Given the description of an element on the screen output the (x, y) to click on. 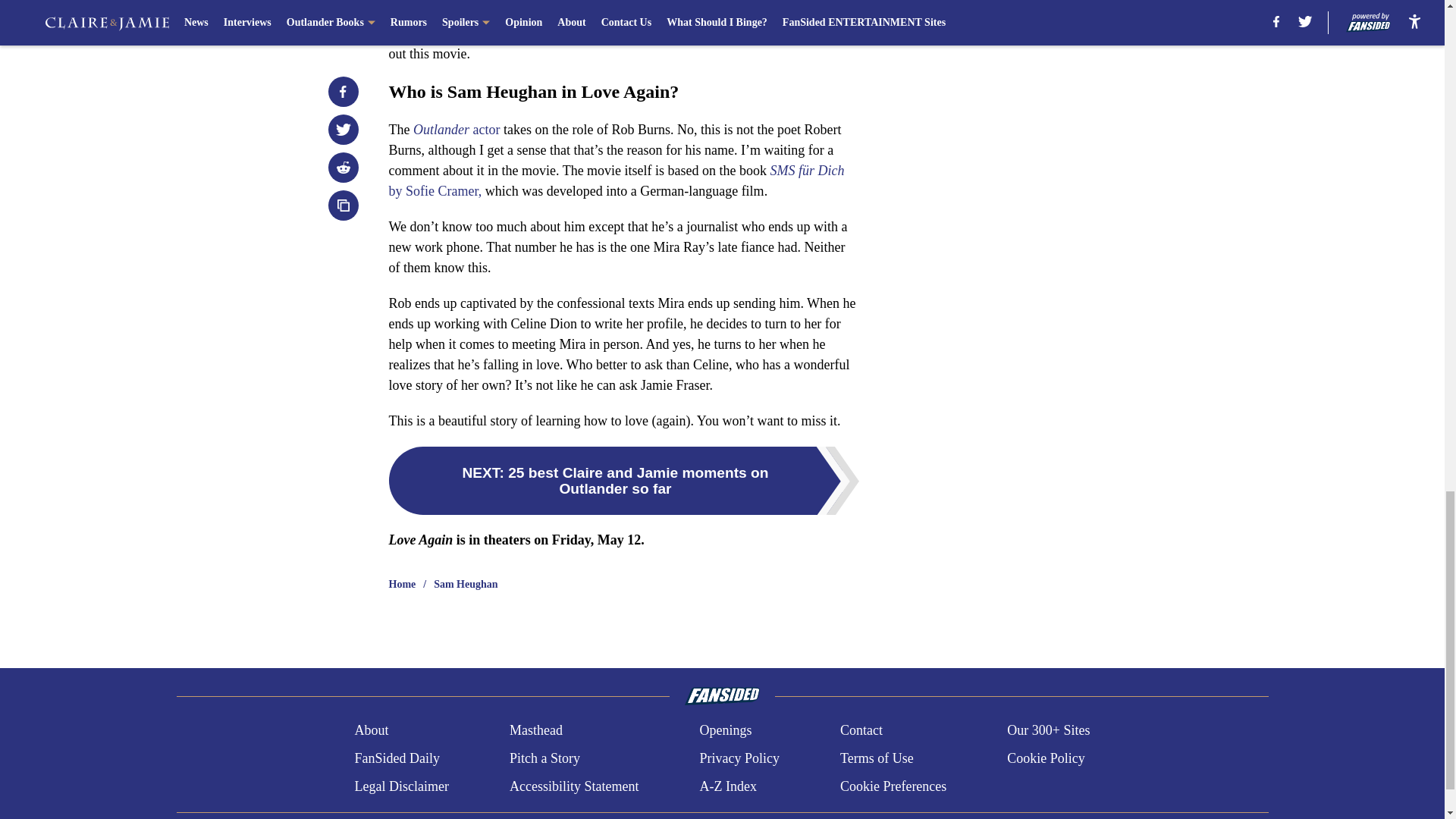
Sam Heughan (465, 584)
Terms of Use (877, 758)
About (370, 730)
Outlander actor (456, 129)
Privacy Policy (738, 758)
NEXT: 25 best Claire and Jamie moments on Outlander so far (623, 480)
Pitch a Story (544, 758)
FanSided Daily (396, 758)
Contact (861, 730)
Masthead (535, 730)
Home (401, 584)
Openings (724, 730)
